Given the description of an element on the screen output the (x, y) to click on. 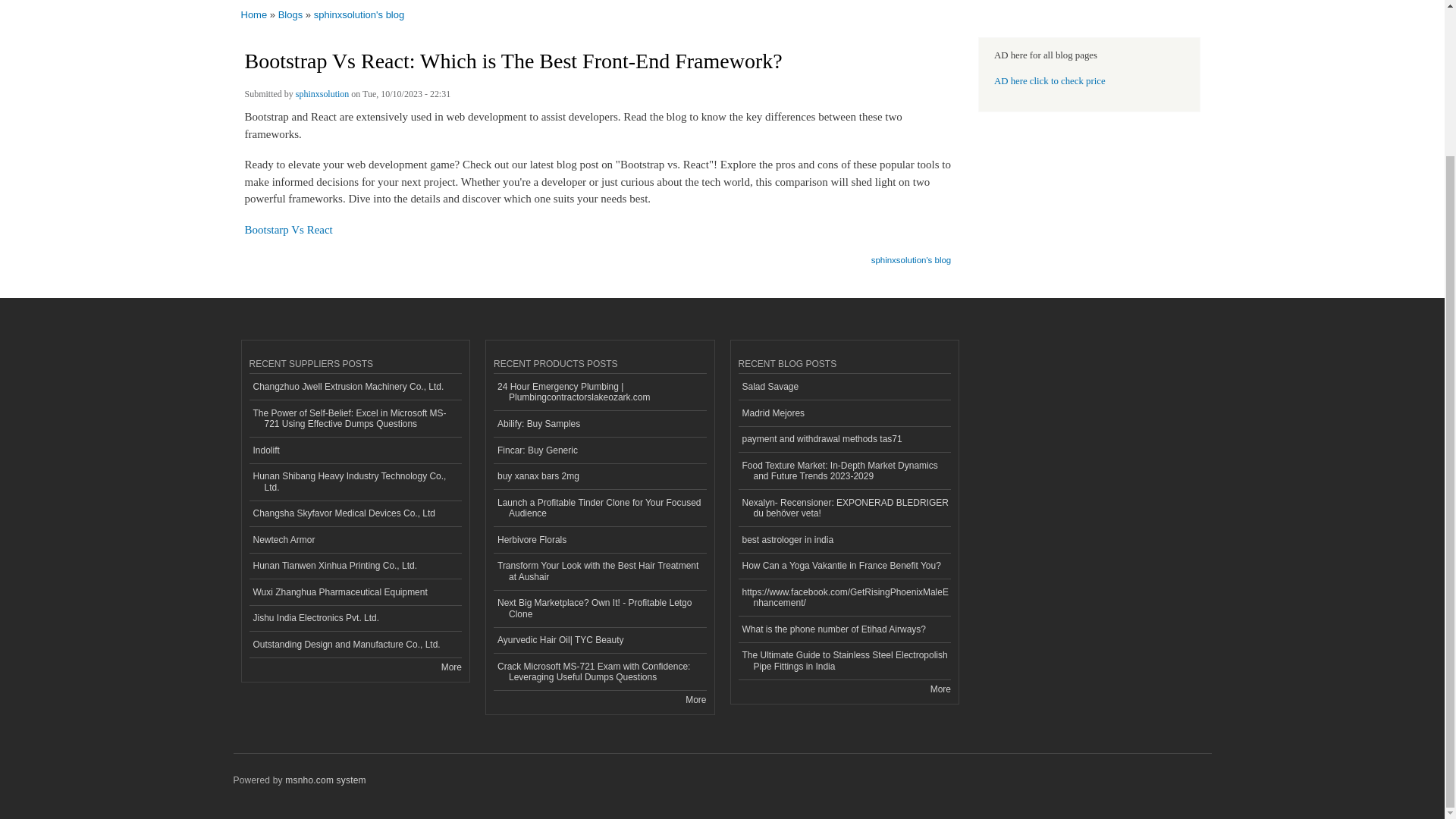
Read the latest blog entries. (940, 688)
sphinxsolution's blog (359, 14)
Hunan Shibang Heavy Industry Technology Co., Ltd. (354, 482)
Herbivore Florals (599, 540)
Newtech Armor (354, 540)
Launch a Profitable Tinder Clone for Your Focused Audience (599, 508)
More (451, 666)
Blogs (290, 14)
Fincar: Buy Generic (599, 450)
AD here click to check price (1049, 81)
Changsha Skyfavor Medical Devices Co., Ltd (354, 513)
Changzhuo Jwell Extrusion Machinery Co., Ltd. (354, 386)
sphinxsolution's blog (911, 254)
Read sphinxsolution's latest blog entries. (911, 254)
